Given the description of an element on the screen output the (x, y) to click on. 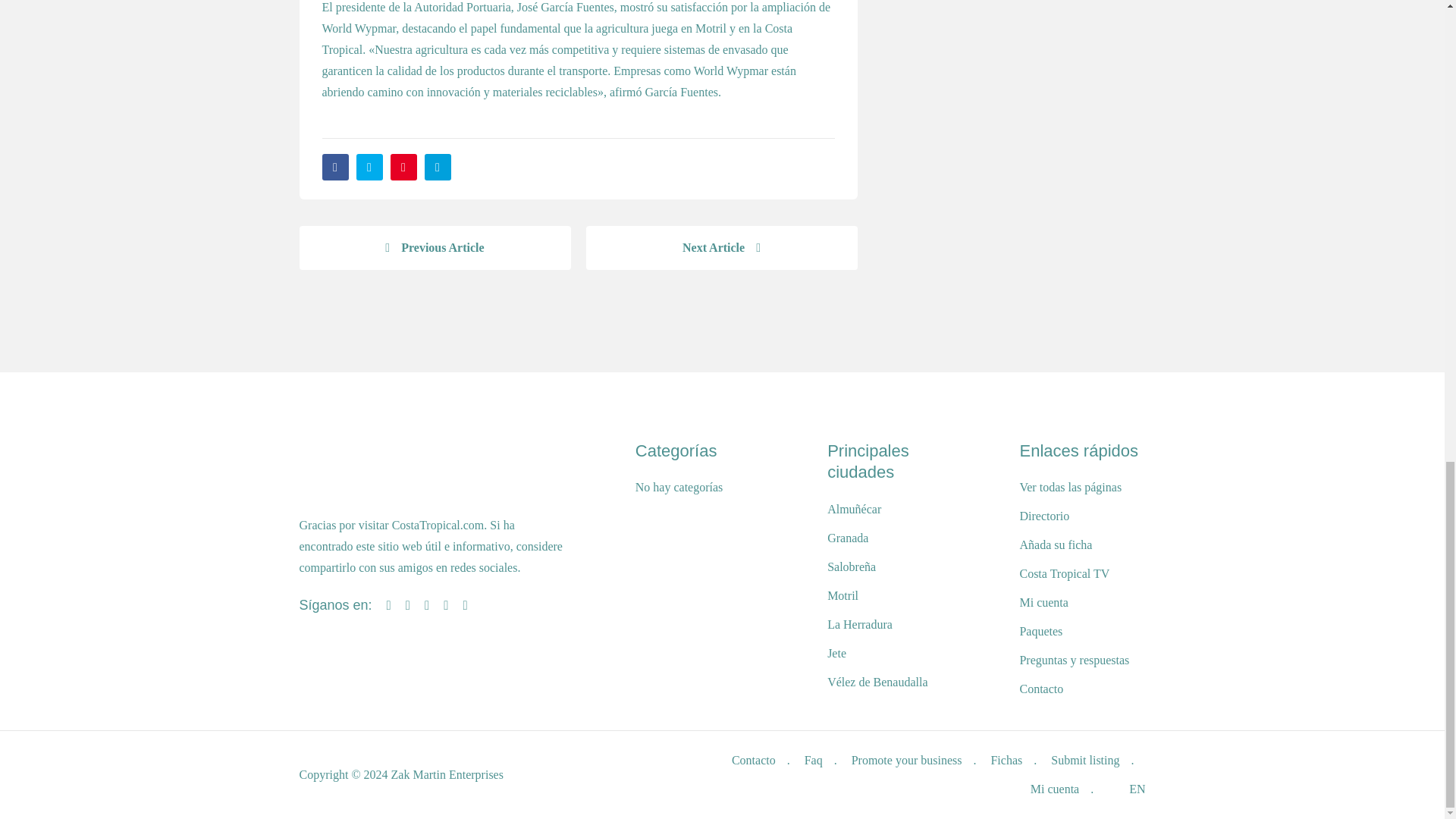
Logo Costa Tropical (335, 469)
English (1118, 788)
